Given the description of an element on the screen output the (x, y) to click on. 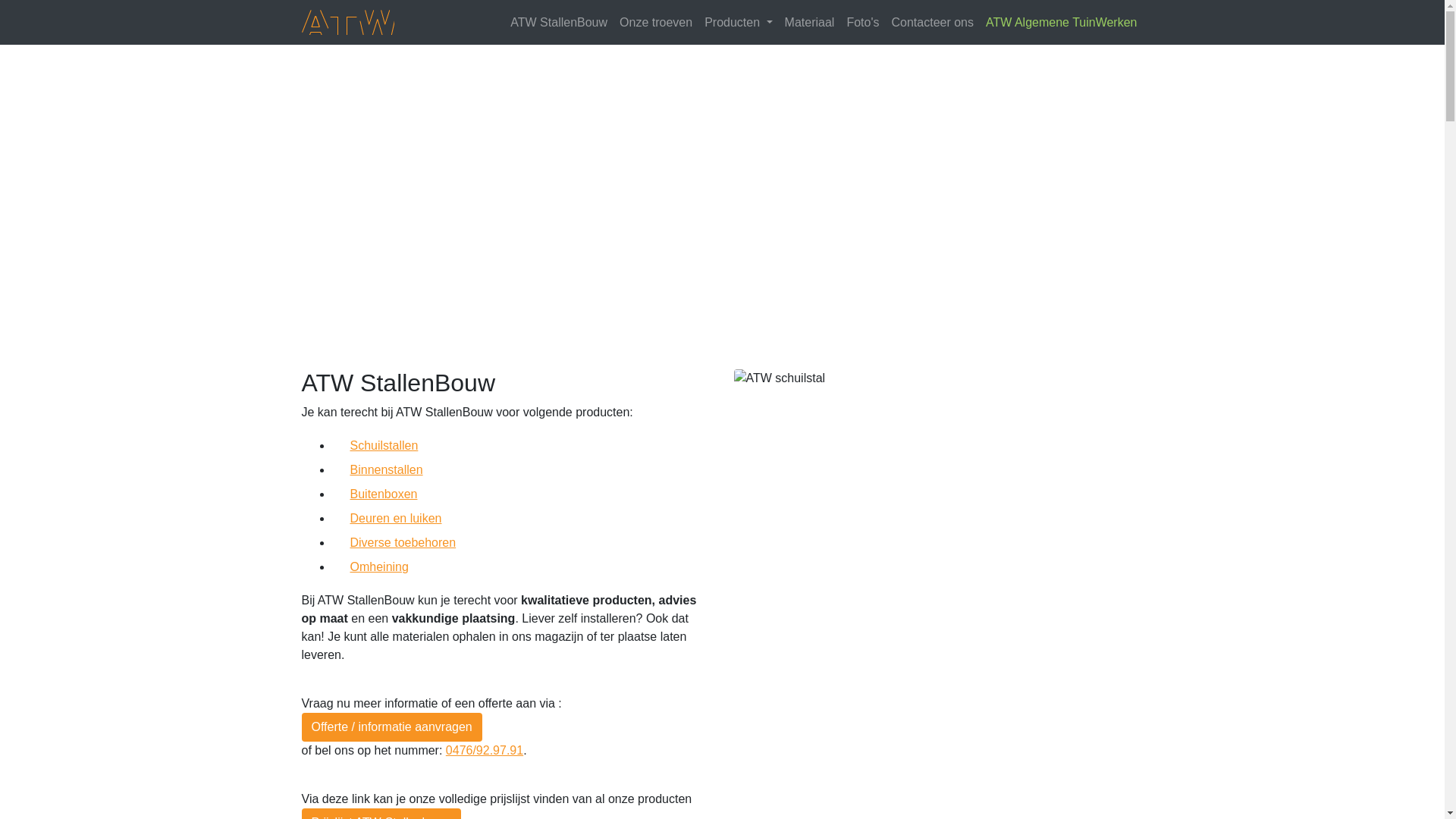
Offerte / informatie aanvragen Element type: text (390, 726)
Binnenstallen Element type: text (521, 470)
Omheining Element type: text (521, 567)
Materiaal Element type: text (809, 22)
ATW StallenBouw Element type: text (558, 22)
0476/92.97.91 Element type: text (484, 749)
Foto's Element type: text (862, 22)
Diverse toebehoren Element type: text (521, 542)
Onze troeven Element type: text (655, 22)
Previous Element type: text (108, 188)
Deuren en luiken Element type: text (521, 518)
Producten Element type: text (738, 22)
Schuilstallen Element type: text (521, 445)
Contacteer ons Element type: text (931, 22)
ATW Algemene TuinWerken Element type: text (1061, 22)
Next Element type: text (1335, 188)
Buitenboxen Element type: text (521, 494)
